Given the description of an element on the screen output the (x, y) to click on. 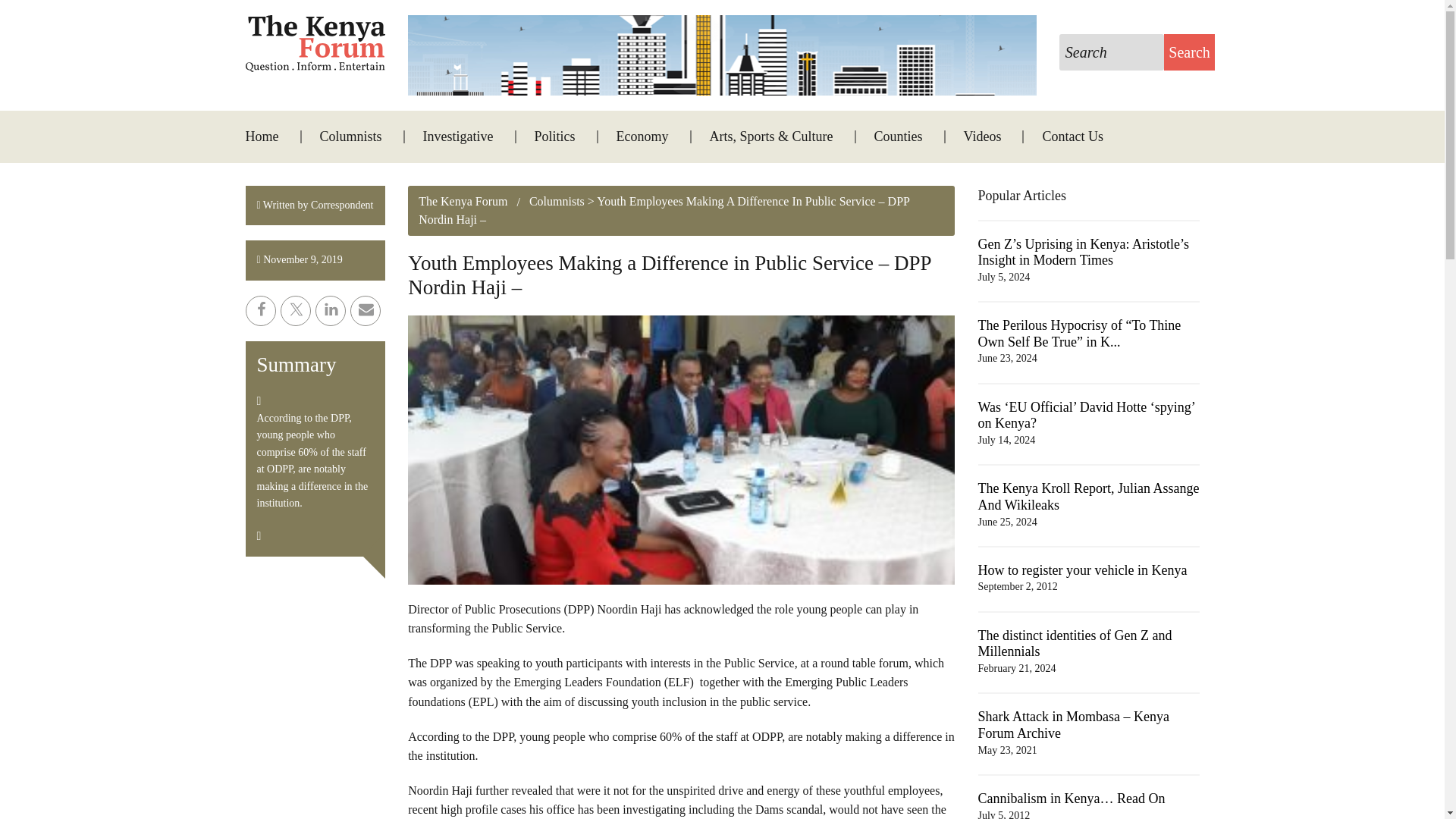
Share via Email (365, 310)
Share on Facebook (261, 310)
The Kenya Forum (462, 201)
Economy (642, 135)
Politics (555, 135)
Contact Us (1063, 135)
Columnists (544, 201)
Videos (982, 135)
Share on LinkedIn (330, 310)
Investigative (458, 135)
Search (1188, 52)
Home (271, 135)
Kenya Forum (315, 43)
Columnists (350, 135)
Share on Twitter (296, 310)
